Given the description of an element on the screen output the (x, y) to click on. 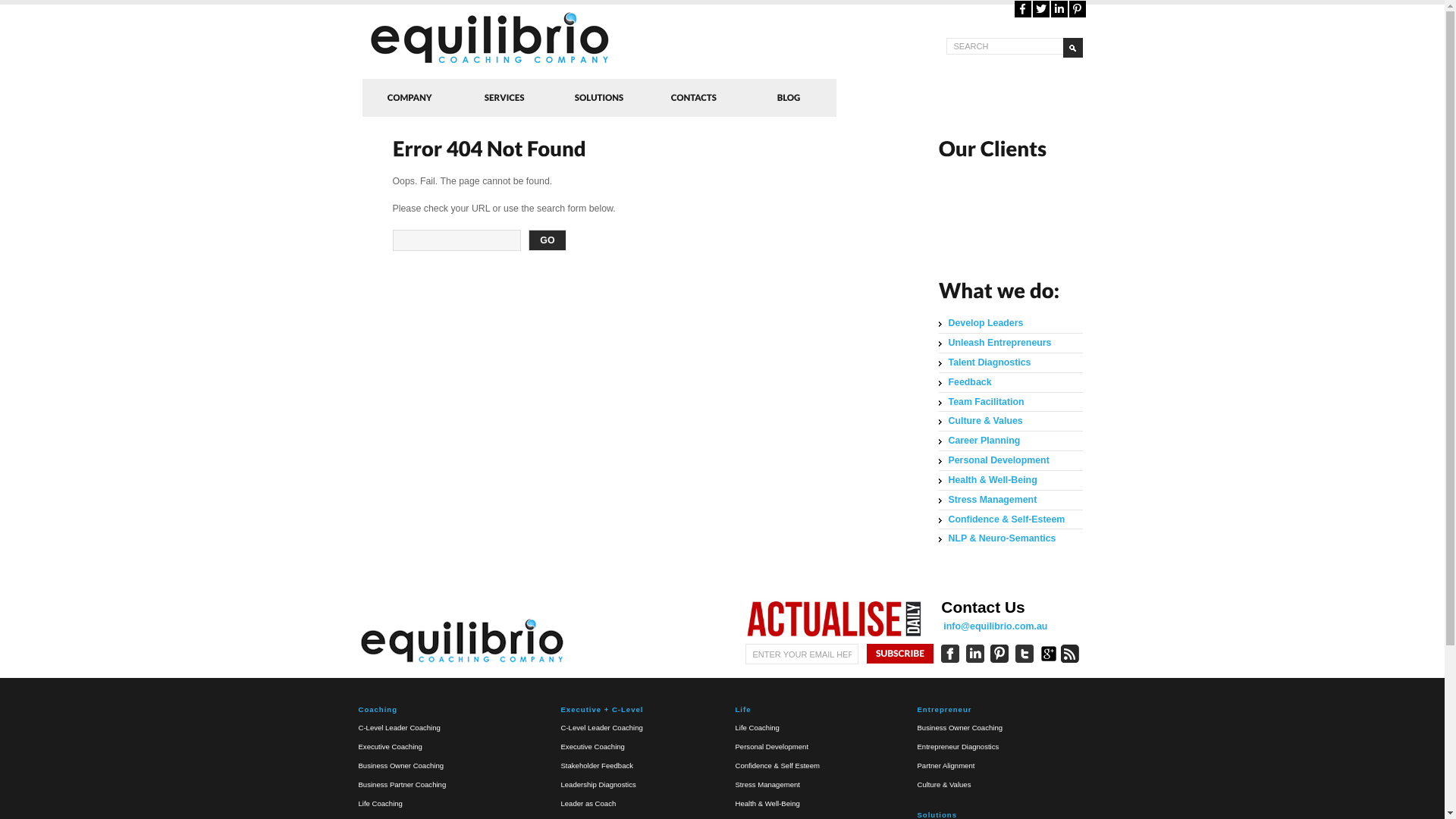
Feedback Element type: text (966, 382)
Personal Development Element type: text (995, 460)
Life Coaching Element type: text (757, 727)
GO Element type: text (547, 240)
LinkedIn Element type: hover (1058, 8)
Stress Management Element type: text (767, 784)
Confidence & Self-Esteem Element type: text (1003, 519)
Business Owner Coaching Element type: text (960, 727)
Culture & Values Element type: text (982, 420)
Stress Management Element type: text (989, 499)
Confidence & Self Esteem Element type: text (777, 774)
Pinterest Element type: hover (1077, 8)
Develop Leaders Element type: text (982, 322)
C-Level Leader Coaching Element type: text (602, 727)
Leader as Coach Element type: text (588, 803)
Entrepreneur Diagnostics Element type: text (958, 746)
Executive Coaching Element type: text (592, 746)
Business Partner Coaching Element type: text (401, 784)
Health & Well-Being Element type: text (989, 479)
Talent Diagnostics Element type: text (986, 362)
Leadership Diagnostics Element type: text (598, 784)
C-Level Leader Coaching Element type: text (398, 727)
Health & Well-Being Element type: text (767, 803)
Facebook Element type: hover (1022, 8)
Team Facilitation Element type: text (983, 401)
Partner Alignment Element type: text (946, 765)
Coaching Company Element type: hover (559, 37)
Life Coaching Element type: text (379, 803)
Executive Coaching Element type: text (389, 746)
Follow us on Google+ Element type: hover (1048, 653)
Career Planning Element type: text (981, 440)
Personal Development Element type: text (772, 755)
Stakeholder Feedback Element type: text (597, 765)
Contact Us Element type: text (982, 606)
NLP & Neuro-Semantics Element type: text (999, 538)
Culture & Values Element type: text (944, 784)
GO Element type: text (1072, 47)
LinkedIn Element type: hover (1059, 8)
info@equilibrio.com.au Element type: text (995, 626)
Facebook Element type: hover (1022, 8)
Business Owner Coaching Element type: text (400, 765)
Unleash Entrepreneurs Element type: text (996, 342)
Twitter Element type: hover (1040, 8)
Twitter Element type: hover (1040, 8)
Pinterest Element type: hover (1077, 8)
